Given the description of an element on the screen output the (x, y) to click on. 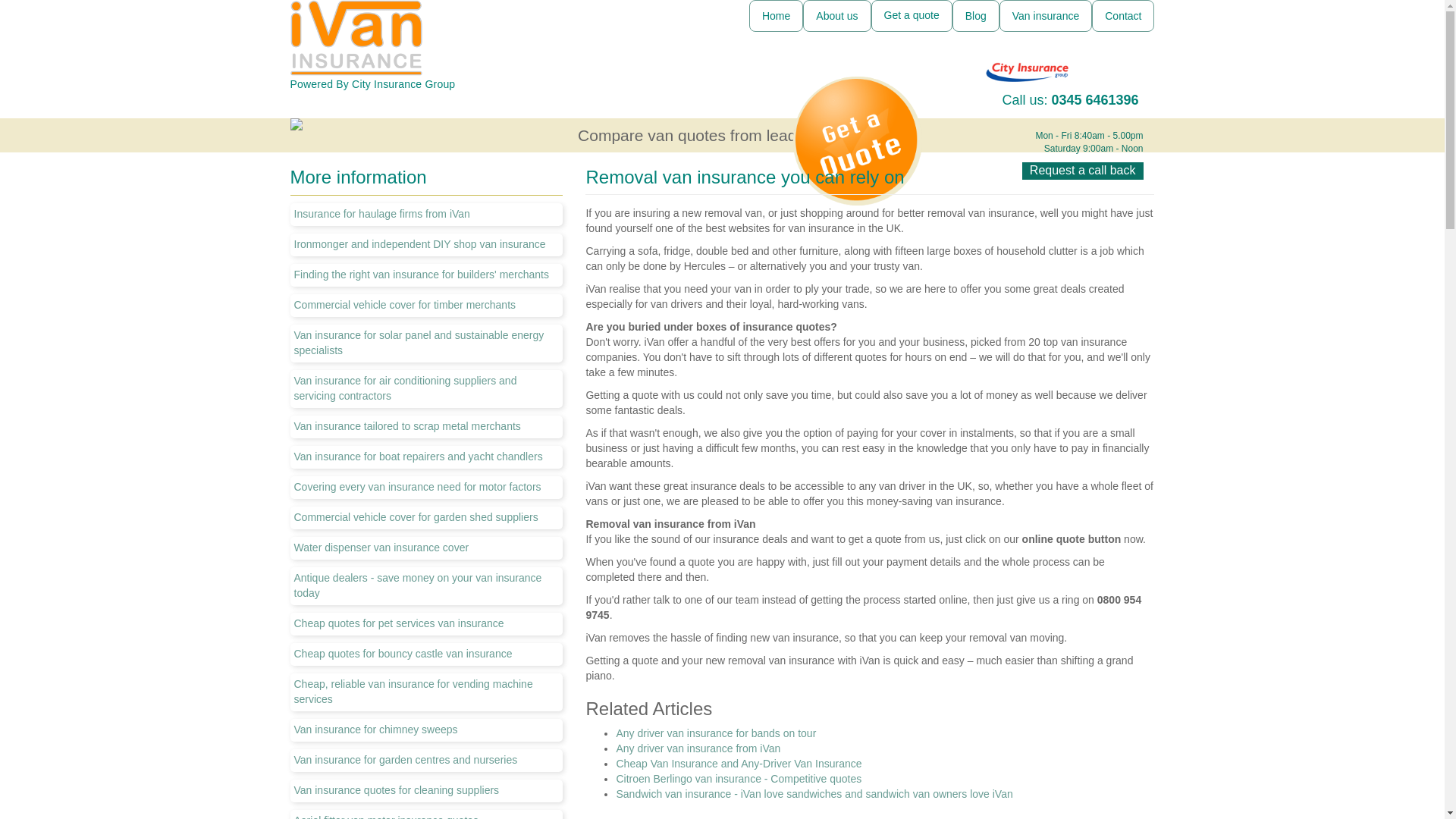
Contact (1123, 15)
Blog (975, 15)
About us (836, 15)
Powered By City Insurance Group (425, 45)
Van insurance (1045, 15)
Home (776, 15)
